Given the description of an element on the screen output the (x, y) to click on. 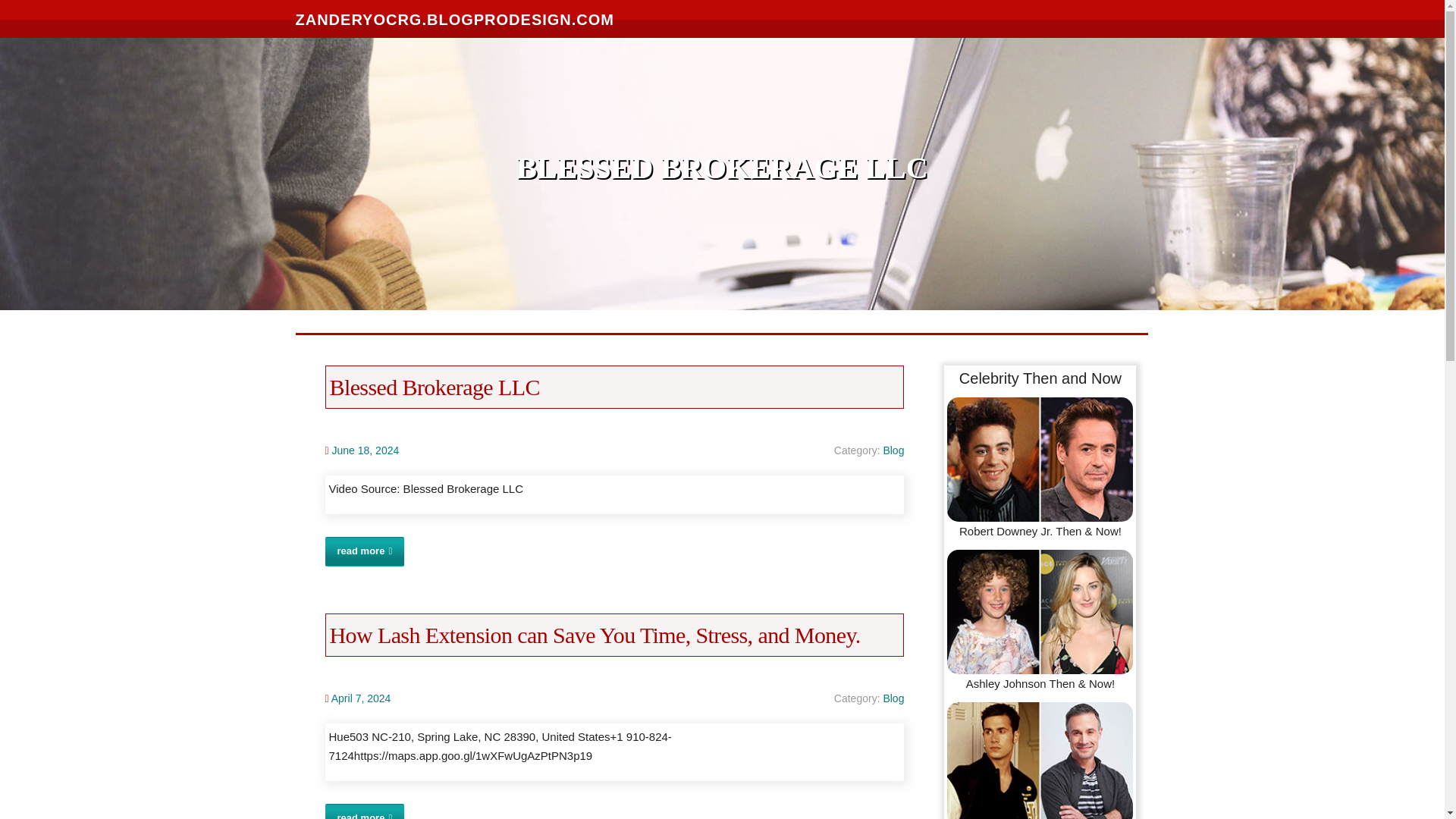
June 18, 2024 (364, 450)
How Lash Extension can Save You Time, Stress, and Money. (594, 634)
Skip to content (37, 9)
Blog (893, 450)
ZANDERYOCRG.BLOGPRODESIGN.COM (454, 18)
read more (364, 552)
Blog (893, 698)
Blessed Brokerage LLC (433, 386)
read more (364, 811)
April 7, 2024 (361, 698)
